Given the description of an element on the screen output the (x, y) to click on. 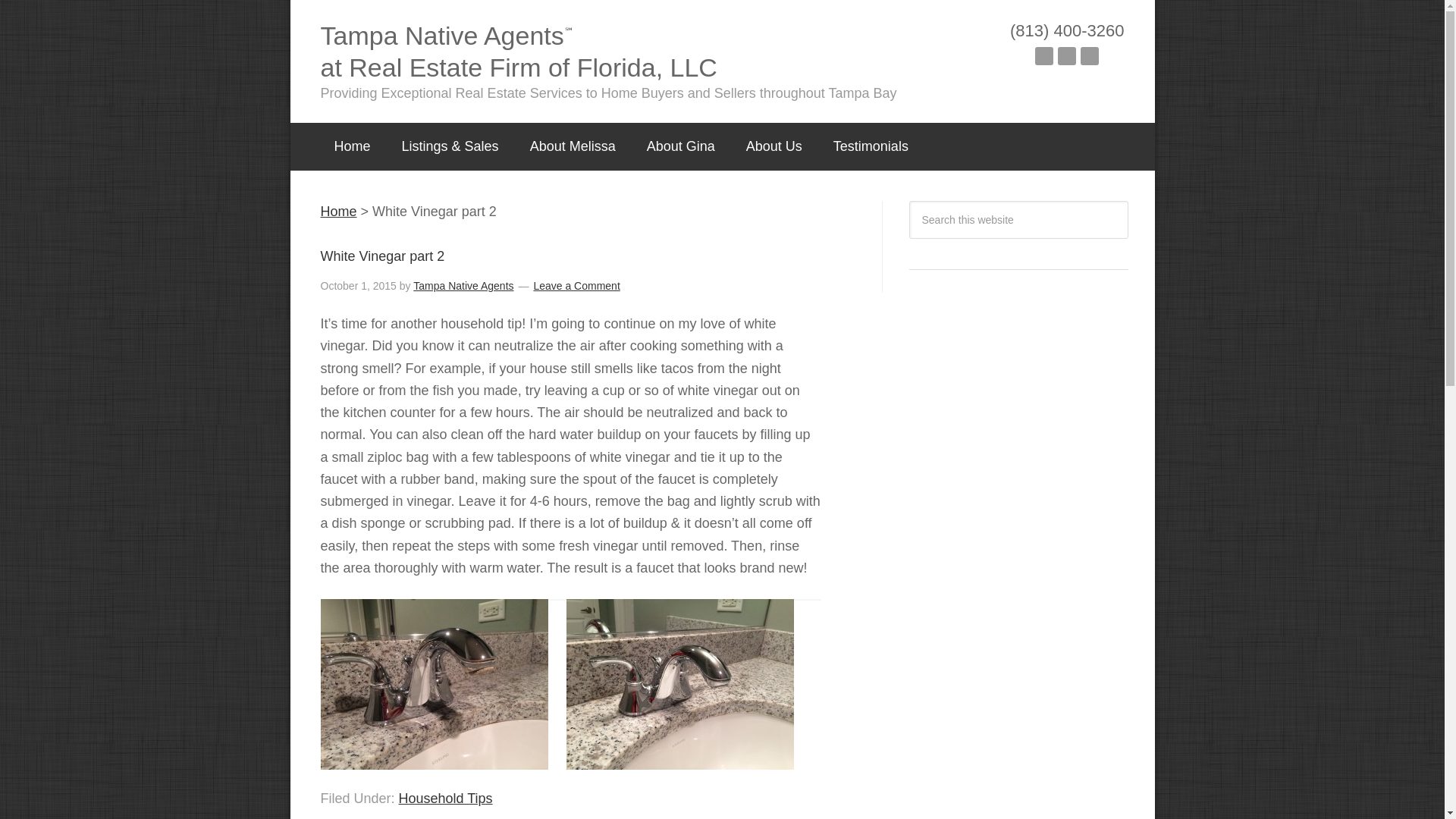
Home (338, 211)
Leave a Comment (576, 285)
Household Tips (445, 798)
About Gina (681, 146)
Home (352, 146)
Testimonials (870, 146)
Tampa Native Agents (463, 285)
About Us (773, 146)
About Melissa (572, 146)
